Given the description of an element on the screen output the (x, y) to click on. 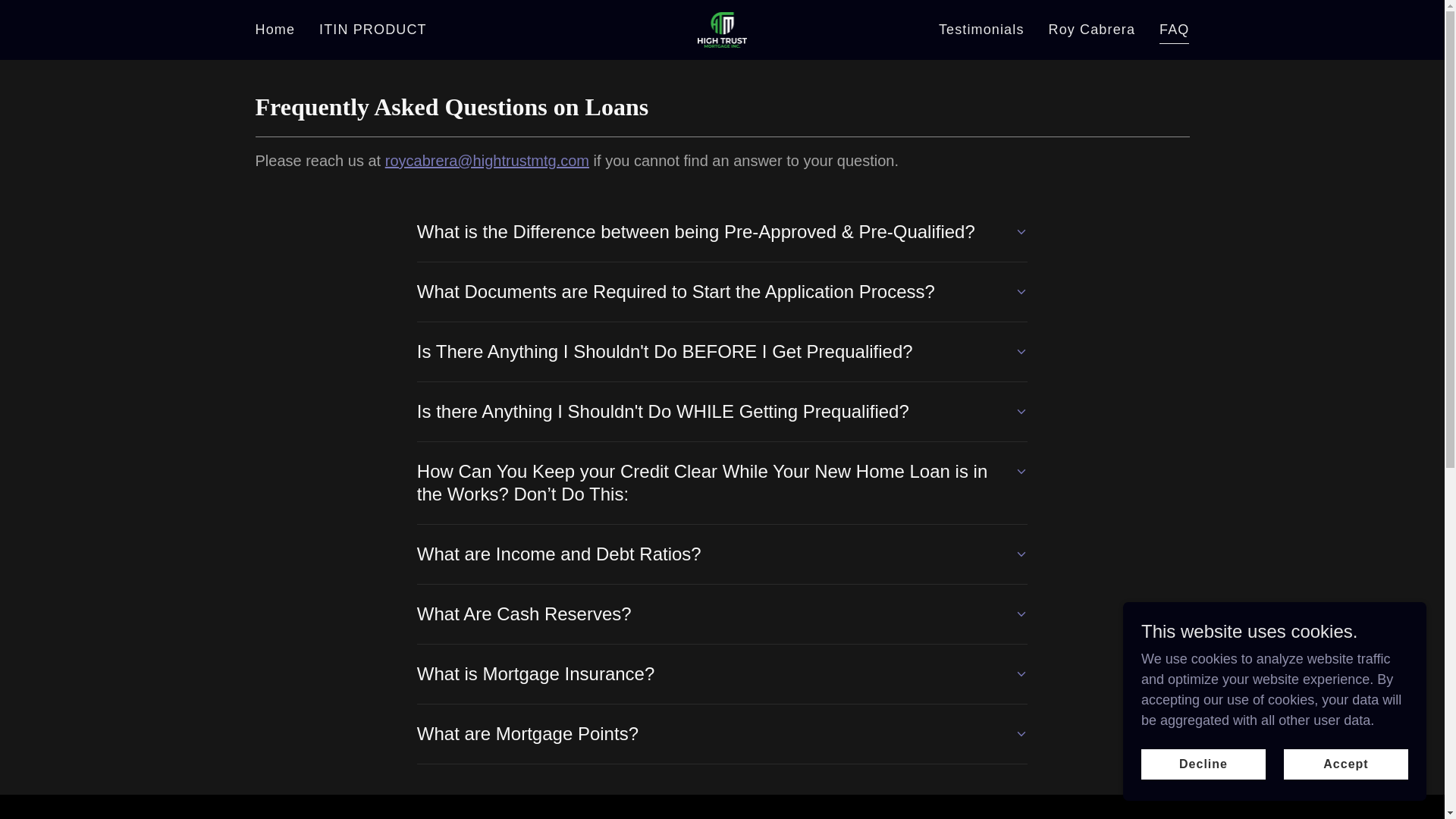
Testimonials (981, 30)
What are Income and Debt Ratios? (721, 554)
What is Mortgage Insurance? (721, 673)
Home (274, 30)
What are Mortgage Points? (721, 733)
Is There Anything I Shouldn't Do BEFORE I Get Prequalified? (721, 351)
Roy Cabrera (722, 28)
Roy Cabrera (1091, 30)
What Are Cash Reserves? (721, 614)
FAQ (1173, 31)
ITIN PRODUCT (372, 30)
Is there Anything I Shouldn't Do WHILE Getting Prequalified? (721, 411)
